Given the description of an element on the screen output the (x, y) to click on. 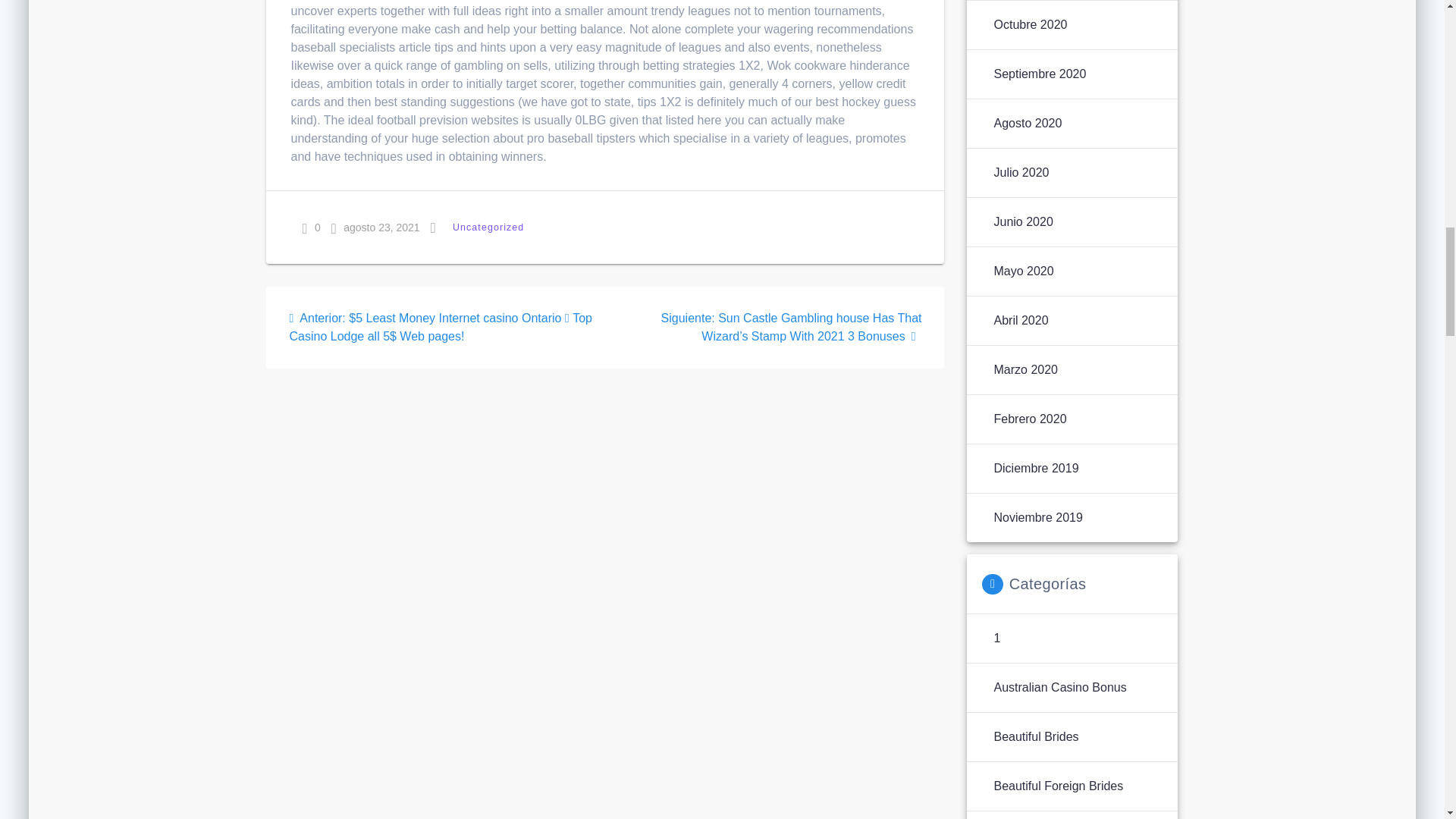
Julio 2020 (1020, 172)
Uncategorized (487, 227)
Agosto 2020 (1026, 123)
Septiembre 2020 (1039, 74)
agosto 23, 2021 (375, 227)
Octubre 2020 (1029, 24)
0 (310, 227)
